Given the description of an element on the screen output the (x, y) to click on. 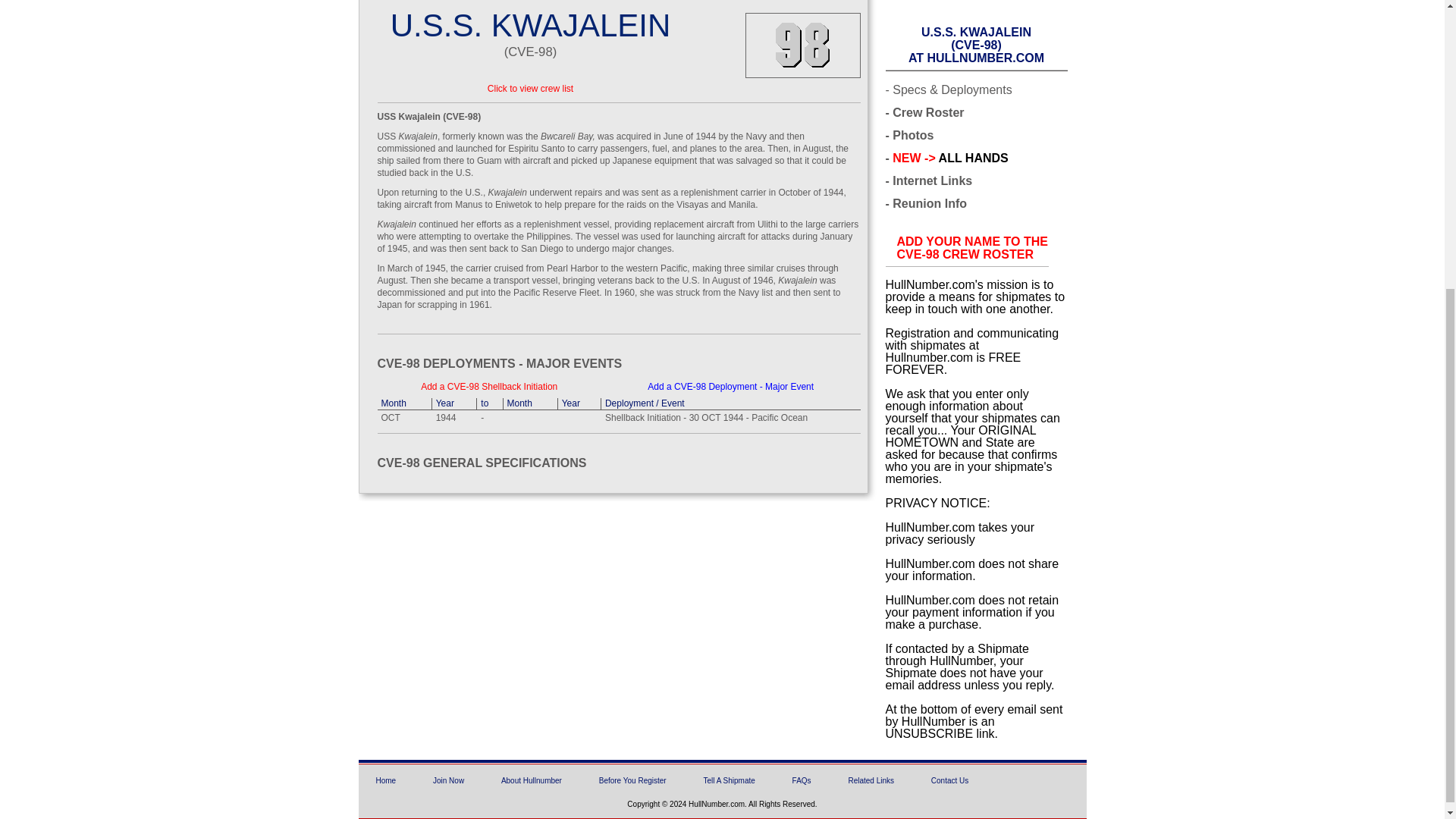
Contact Us (949, 780)
Related Links (870, 780)
Add a CVE-98 Deployment - Major Event (730, 386)
Before You Register (632, 780)
Join Now (448, 780)
- Reunion Info (926, 203)
- Crew Roster (924, 112)
- Photos (909, 135)
- Internet Links (928, 181)
FAQs (801, 780)
Tell A Shipmate (728, 780)
Home (971, 248)
About Hullnumber (385, 780)
Click to view crew list (531, 780)
